Given the description of an element on the screen output the (x, y) to click on. 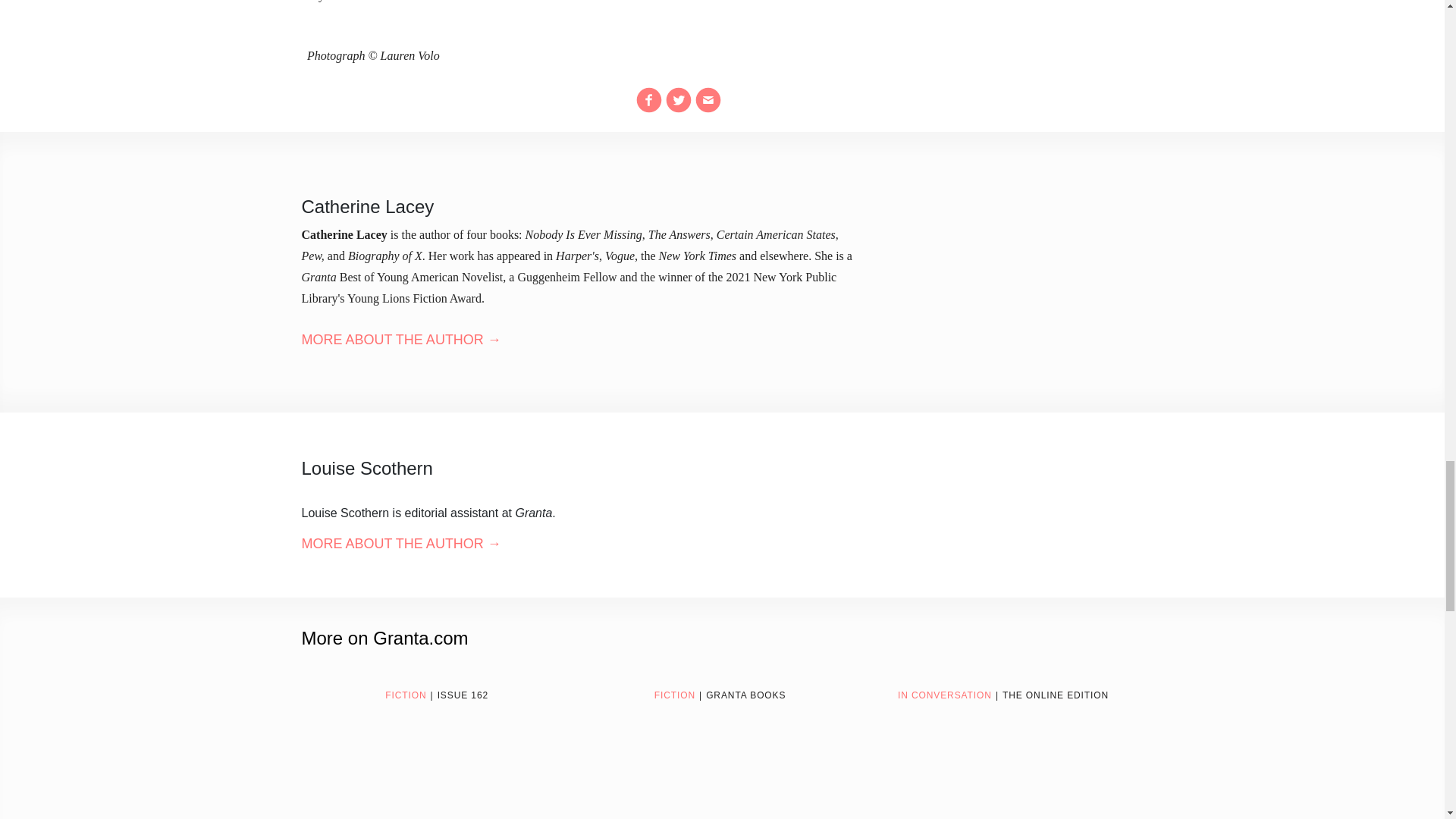
twitter-with-circle Created with Sketch. (678, 99)
mail-with-circle Created with Sketch. (707, 99)
facebook-with-circle Created with Sketch. (649, 99)
